Given the description of an element on the screen output the (x, y) to click on. 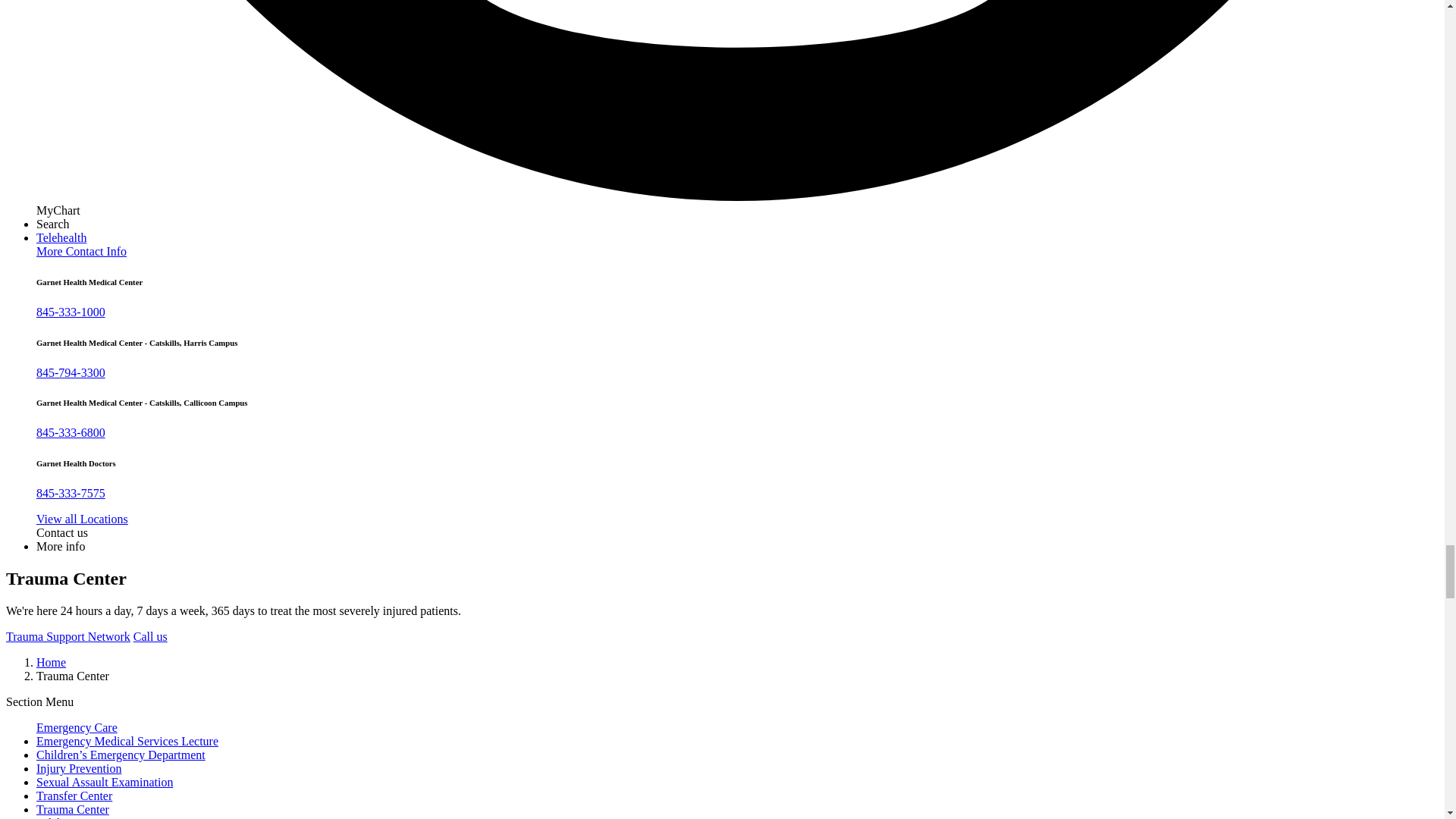
Contact Us (61, 532)
Search (52, 223)
